Given the description of an element on the screen output the (x, y) to click on. 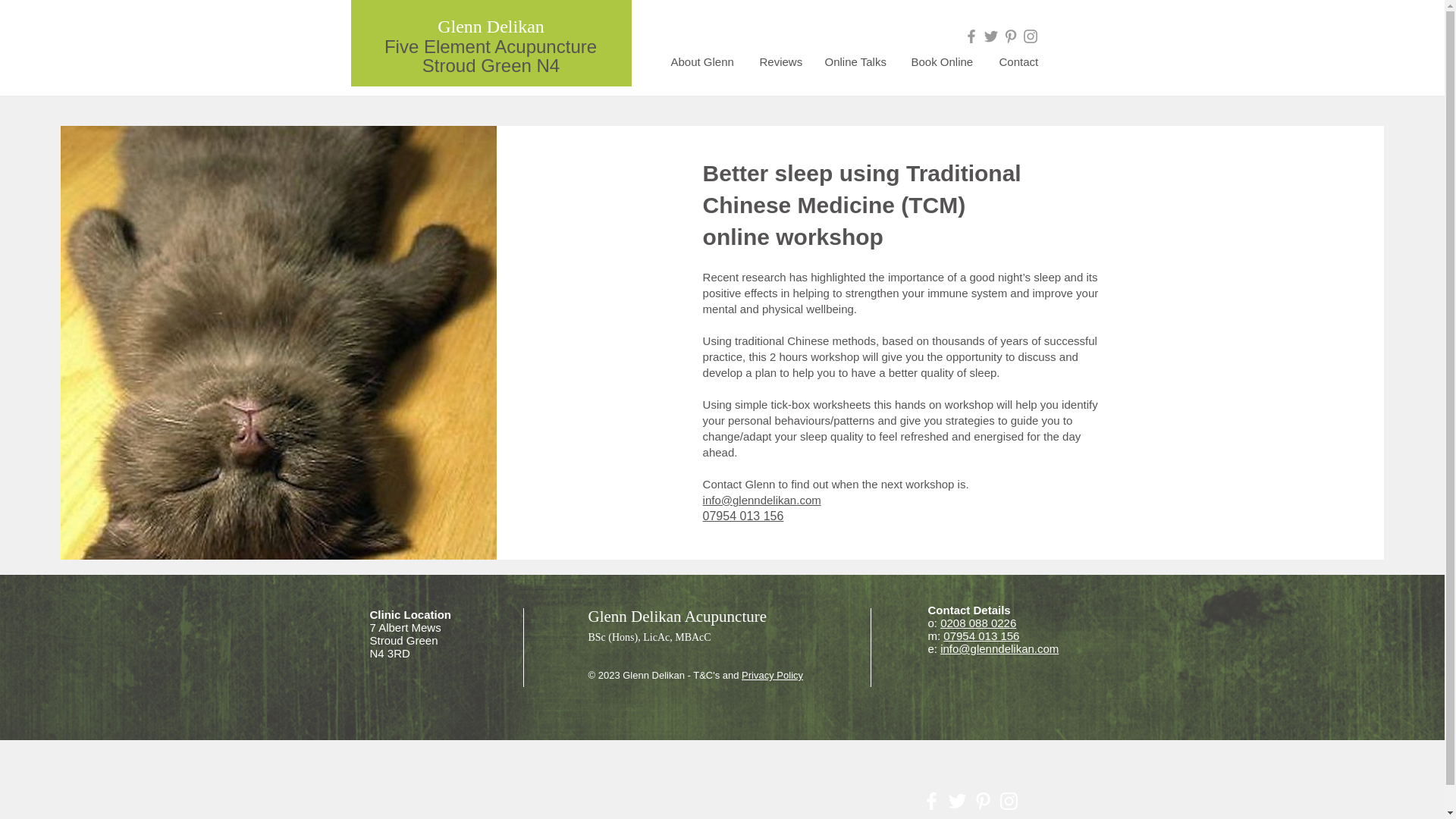
Five Element Acupuncture (490, 46)
Online Talks (855, 61)
Contact (1018, 61)
Glenn Delikan (491, 26)
Reviews (780, 61)
About Glenn (703, 61)
Privacy Policy (772, 674)
Glenn Delikan Acupuncture (677, 616)
Stroud Green N4 (490, 65)
Book Online (943, 61)
0208 088 0226 (978, 622)
